Given the description of an element on the screen output the (x, y) to click on. 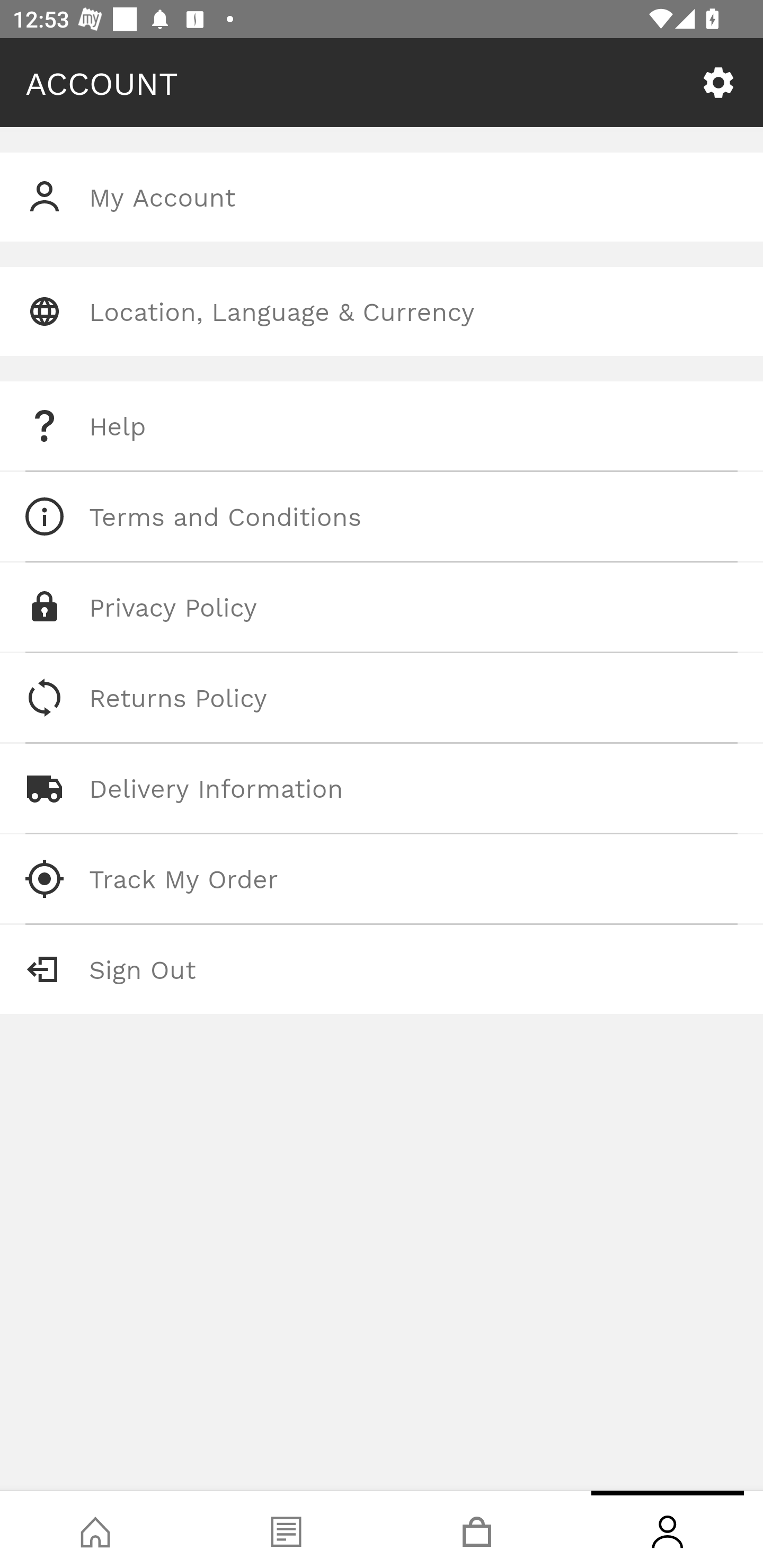
SETTINGS (718, 82)
My Account (381, 196)
Location, Language & Currency (381, 310)
Help (381, 425)
Terms and Conditions (381, 516)
Privacy Policy (381, 607)
Returns Policy (381, 697)
Delivery Information (381, 787)
Track My Order (381, 878)
Sign Out (381, 969)
Shop, tab, 1 of 4 (95, 1529)
Blog, tab, 2 of 4 (285, 1529)
Basket, tab, 3 of 4 (476, 1529)
Account, tab, 4 of 4 (667, 1529)
